Given the description of an element on the screen output the (x, y) to click on. 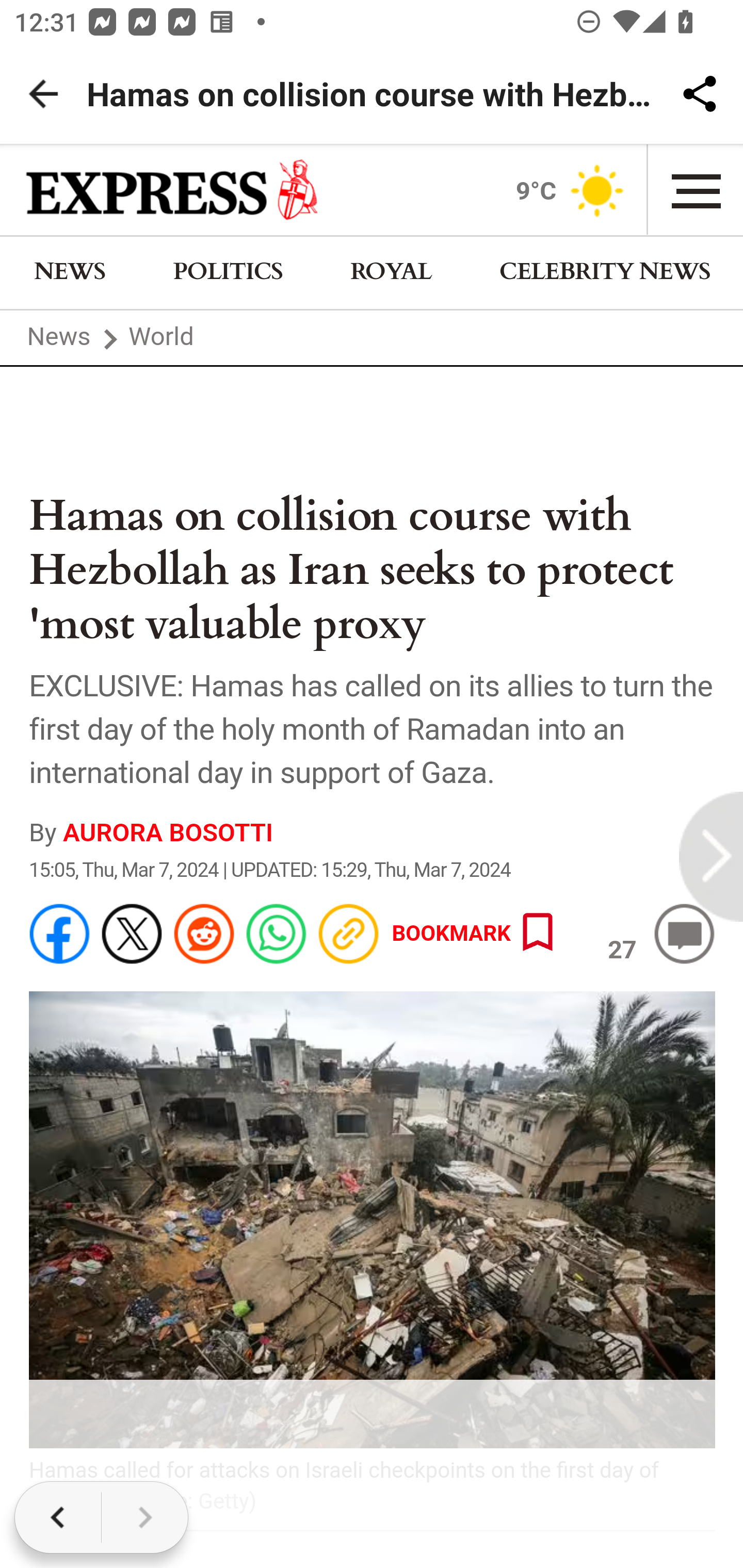
logo (173, 190)
9°C (573, 190)
NEWS (70, 272)
POLITICS (227, 272)
ROYAL (390, 272)
CELEBRITY NEWS (603, 272)
News (58, 337)
World (160, 337)
AURORA BOSOTTI (167, 831)
Share on Facebook (60, 934)
Share on Twitter (132, 934)
Share on Reddit (203, 934)
Share via Whatsapp (275, 934)
Copy link (349, 934)
BOOKMARK (476, 934)
27 (684, 934)
